Given the description of an element on the screen output the (x, y) to click on. 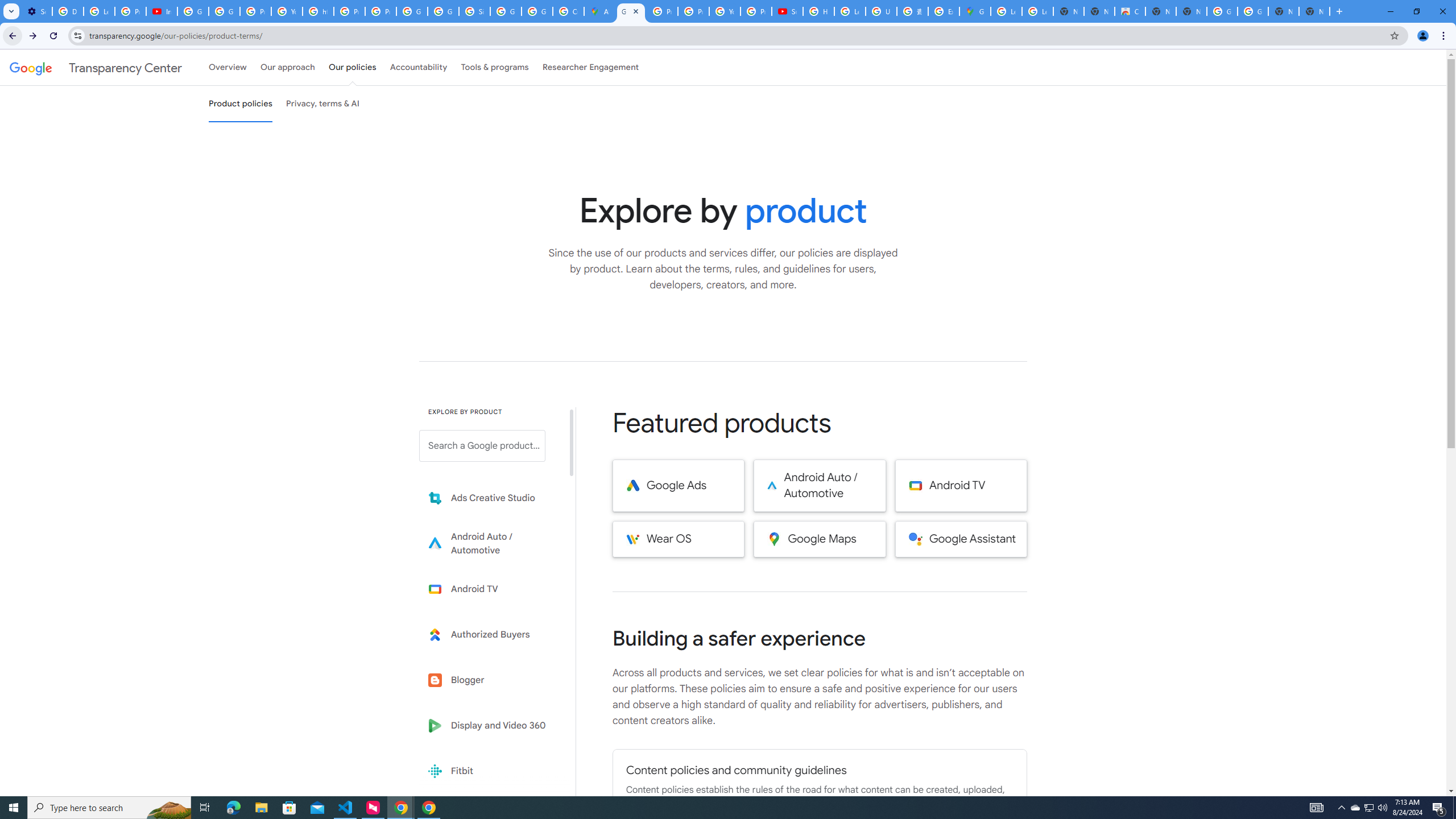
Privacy, terms & AI (322, 103)
Learn more about Android TV (490, 588)
How Chrome protects your passwords - Google Chrome Help (818, 11)
Chrome Web Store (1129, 11)
Our approach (287, 67)
Researcher Engagement (590, 67)
